Given the description of an element on the screen output the (x, y) to click on. 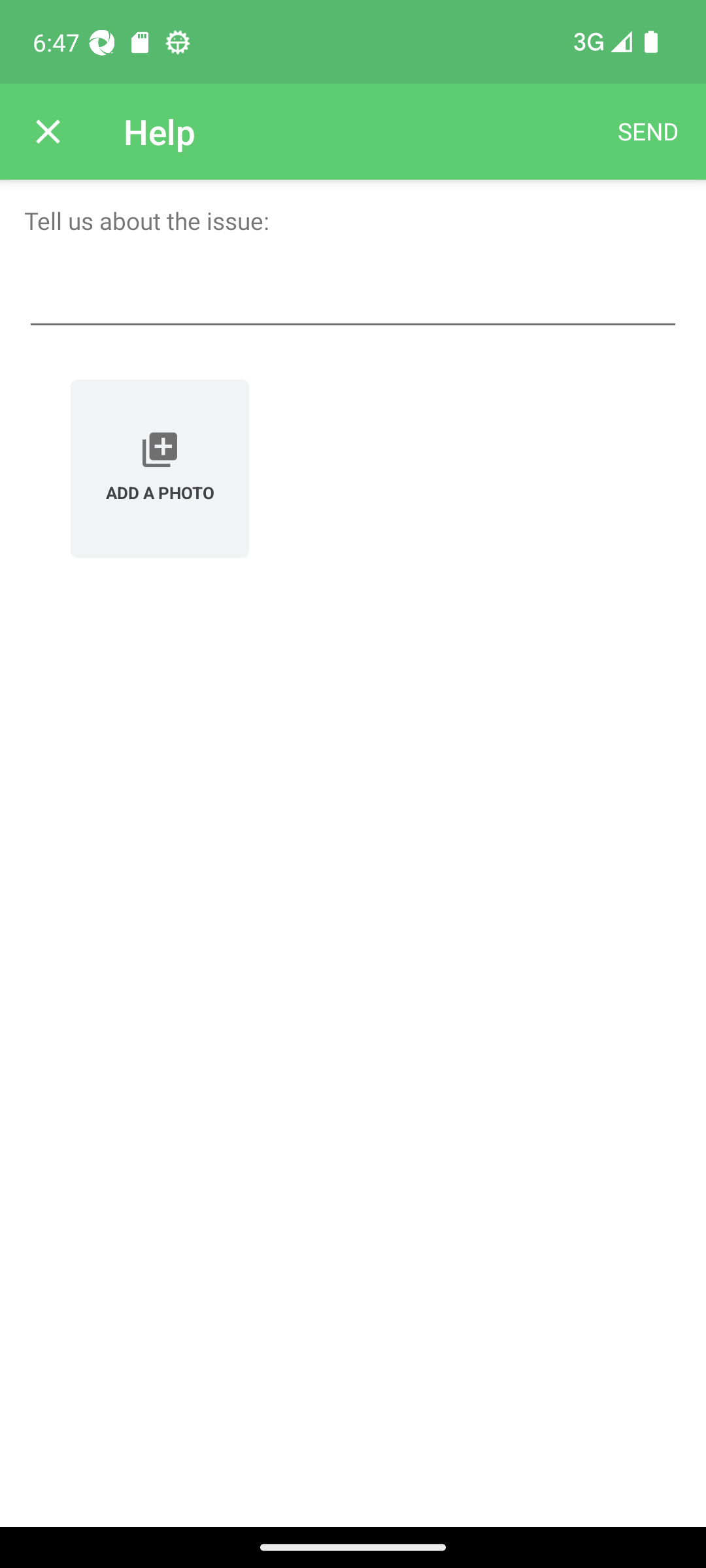
Navigate up (48, 131)
SEND (647, 131)
ADD A PHOTO (159, 468)
